Given the description of an element on the screen output the (x, y) to click on. 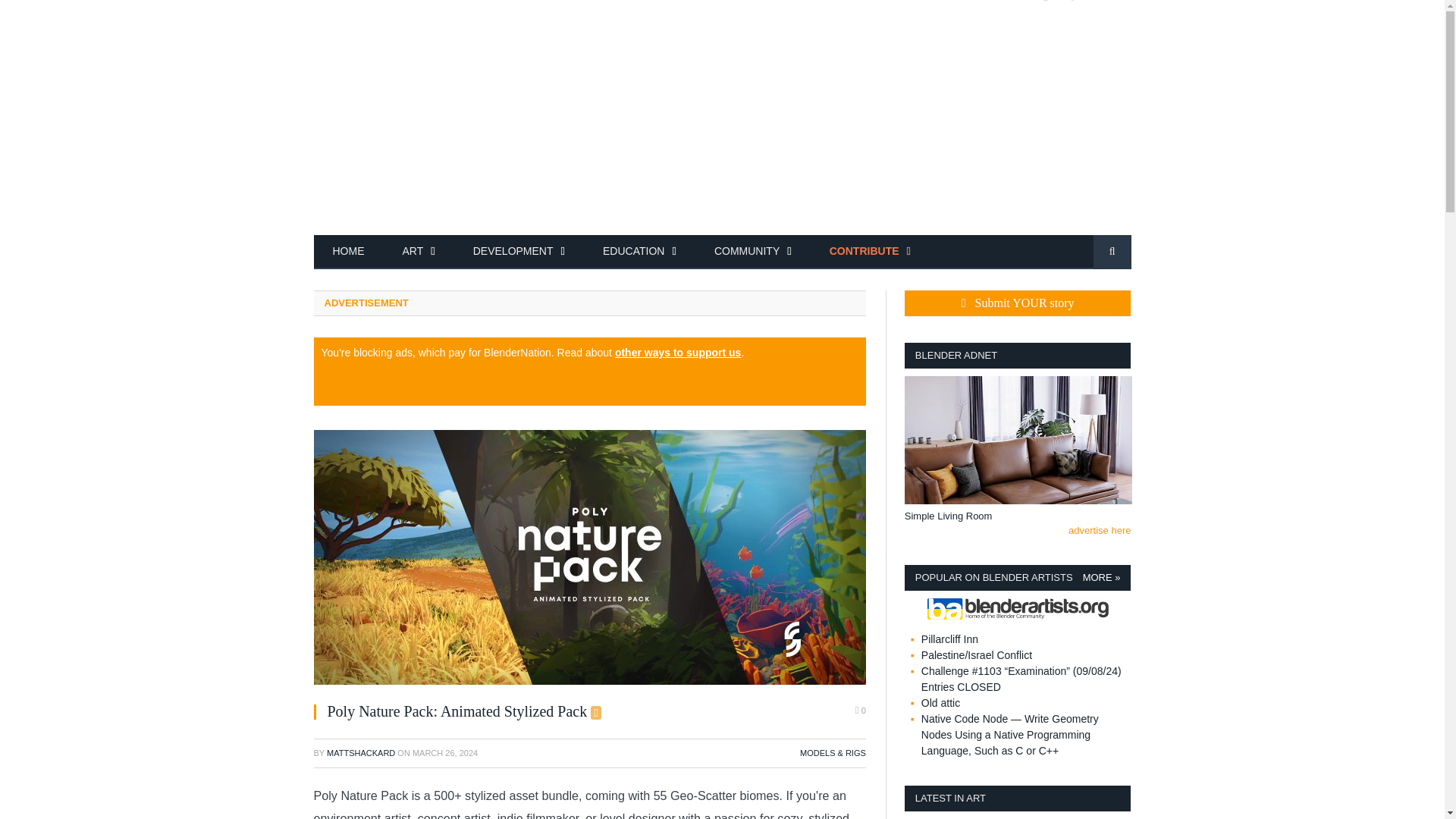
CONTRIBUTE (870, 252)
EDUCATION (639, 252)
HOME (349, 252)
other ways to support us (677, 352)
COMMUNITY (752, 252)
ART (419, 252)
DEVELOPMENT (518, 252)
Search (1112, 252)
2024-03-26 (444, 752)
Posts by MattShackard (360, 752)
